Given the description of an element on the screen output the (x, y) to click on. 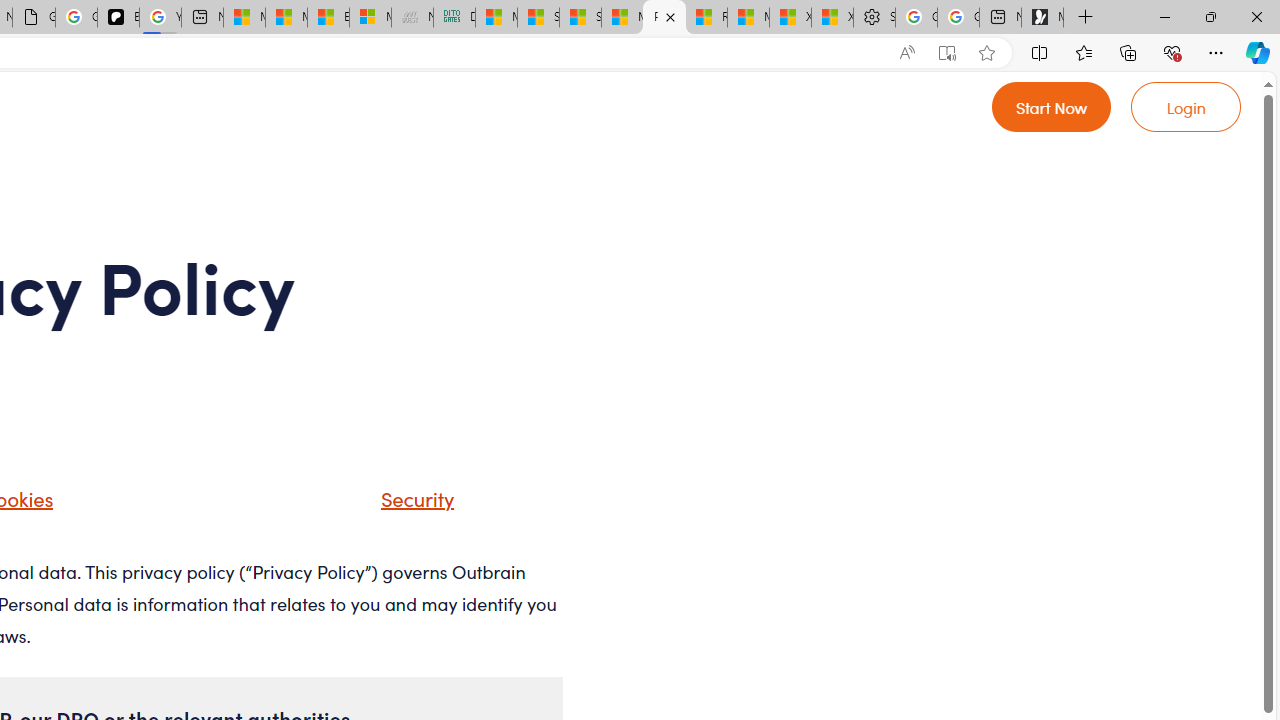
R******* | Trusted Community Engagement and Contributions (706, 17)
Entertainment - MSN (328, 17)
Google Analytics Opt-out Browser Add-on Download Page (33, 17)
